Given the description of an element on the screen output the (x, y) to click on. 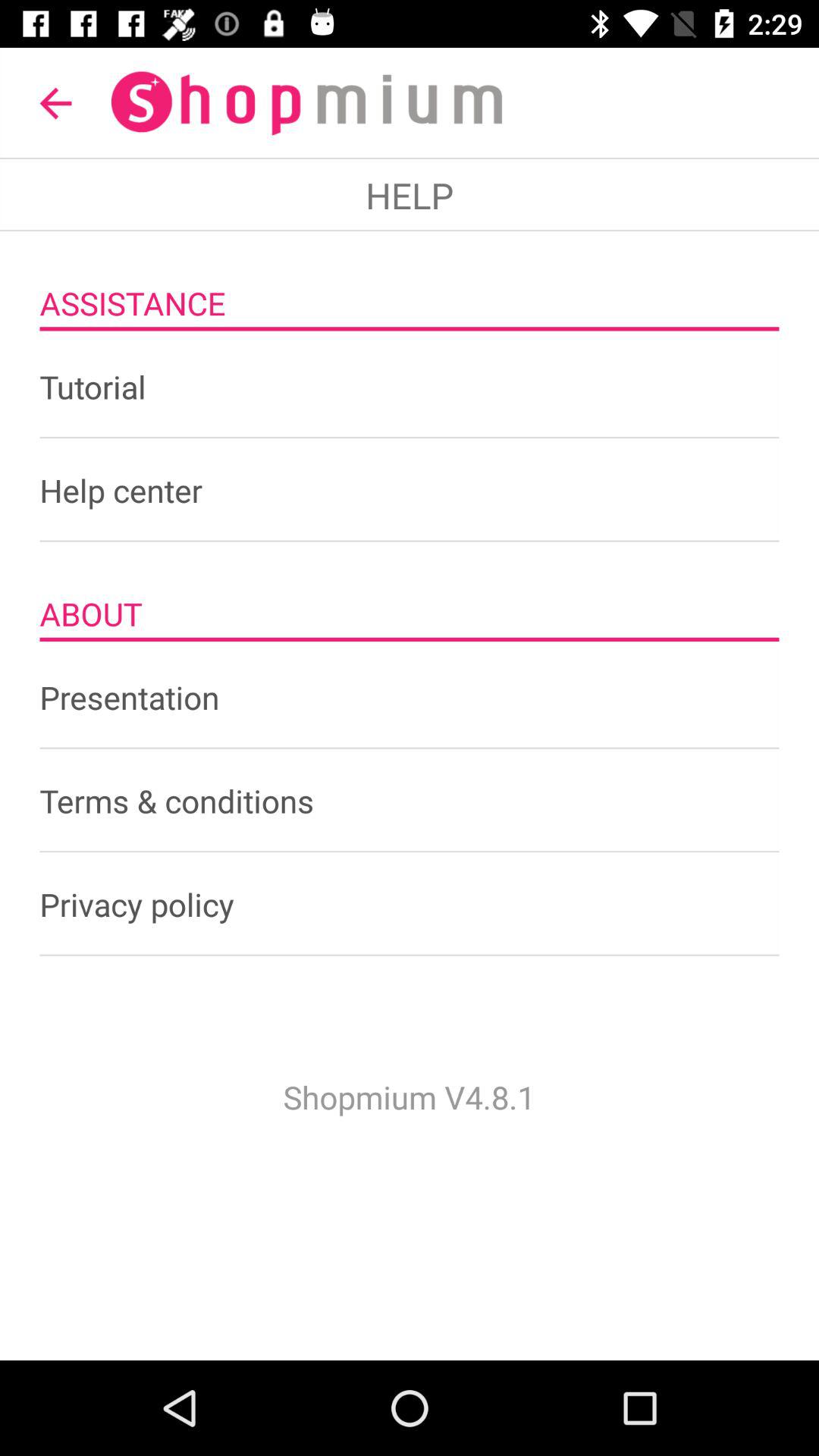
press icon above the shopmium v4 8 (409, 904)
